Given the description of an element on the screen output the (x, y) to click on. 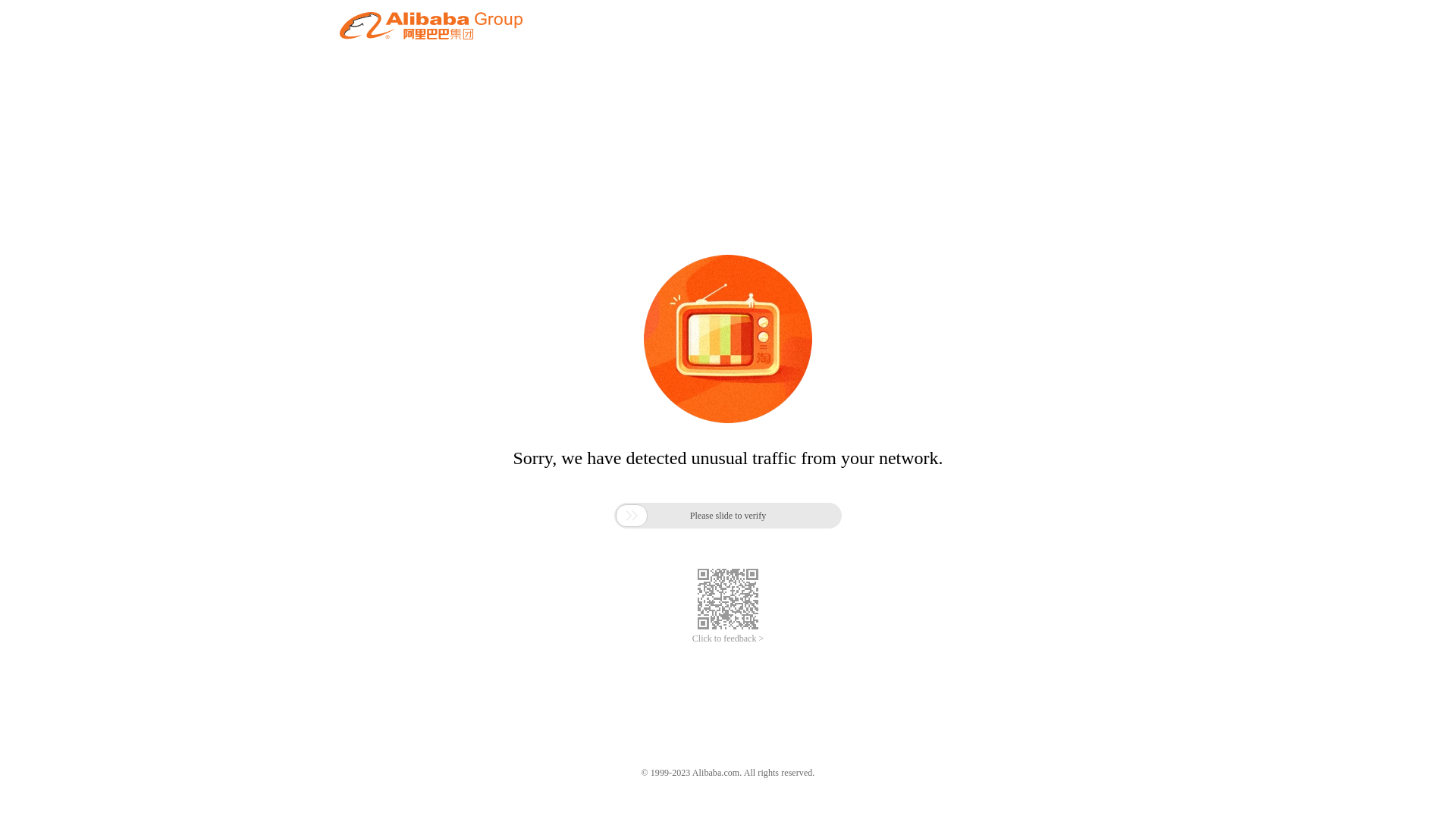
Click to feedback > Element type: text (727, 638)
